Given the description of an element on the screen output the (x, y) to click on. 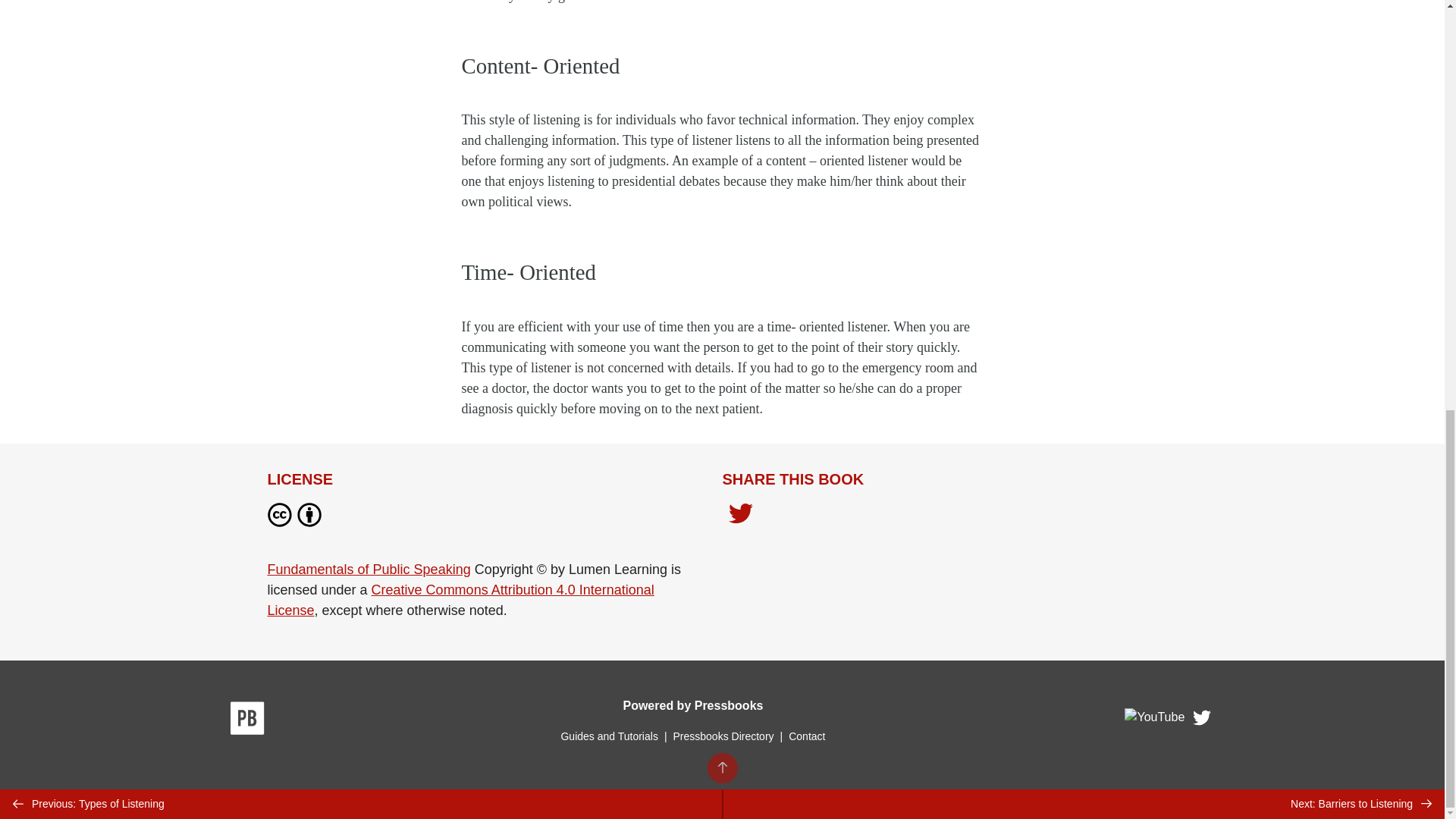
Guides and Tutorials (608, 736)
Powered by Pressbooks (692, 705)
Share on Twitter (740, 514)
Creative Commons Attribution 4.0 International License (459, 600)
Pressbooks Directory (723, 736)
Fundamentals of Public Speaking (368, 569)
Pressbooks on YouTube (1155, 721)
Contact (807, 736)
Share on Twitter (740, 517)
